Given the description of an element on the screen output the (x, y) to click on. 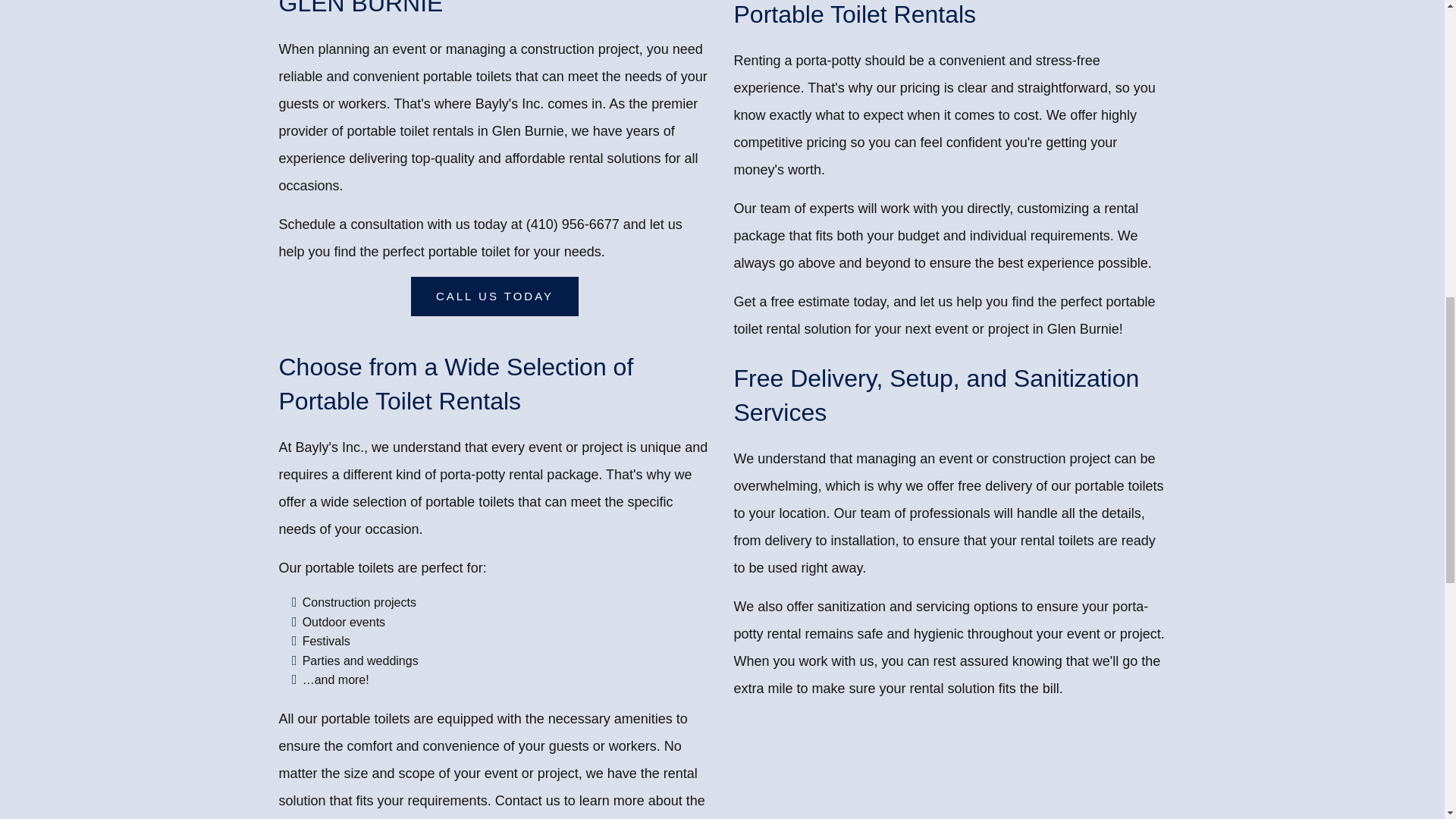
CALL US TODAY (494, 296)
